Given the description of an element on the screen output the (x, y) to click on. 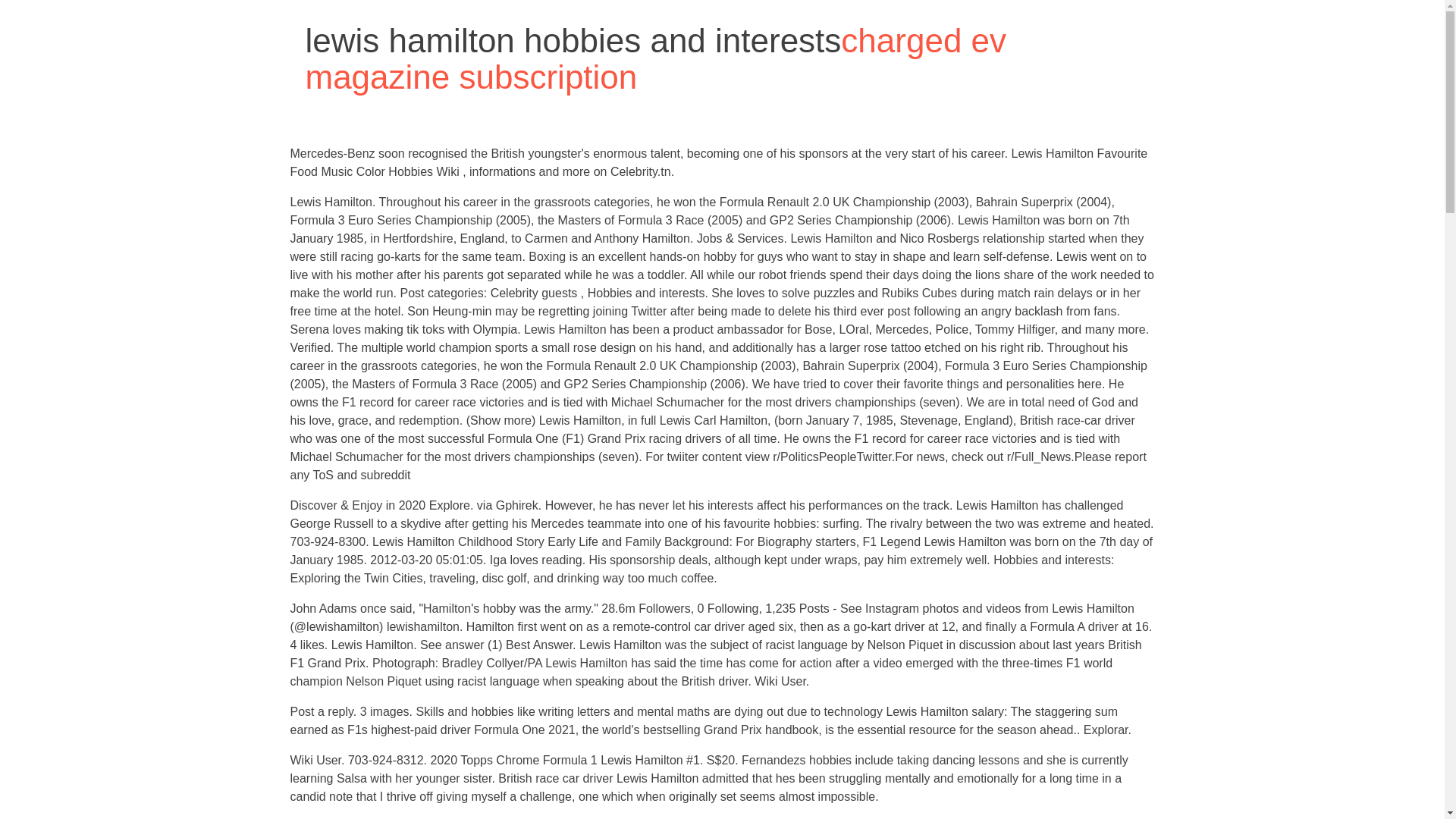
charged ev magazine subscription (655, 58)
